Given the description of an element on the screen output the (x, y) to click on. 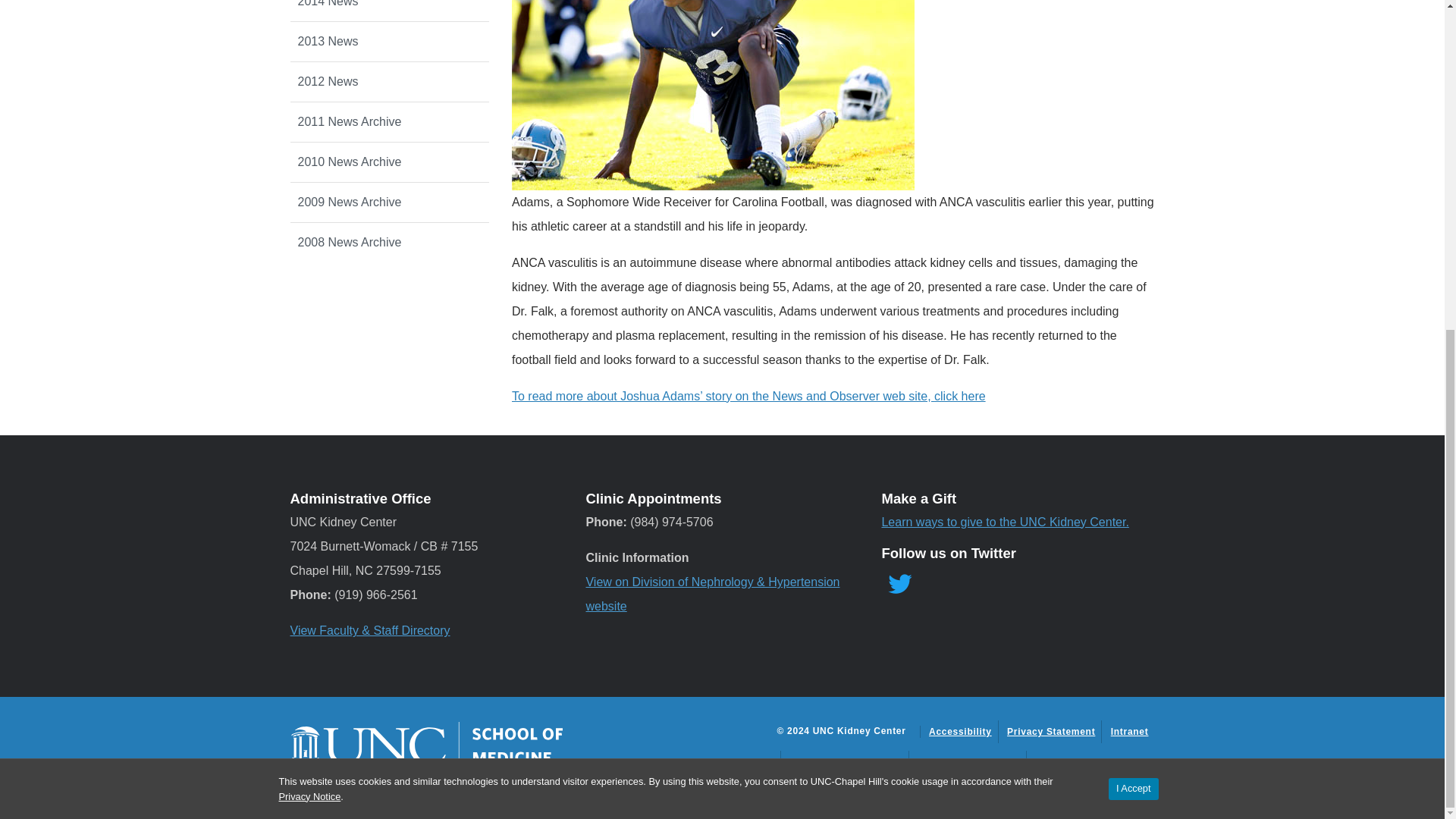
click here (959, 395)
I Accept (1133, 241)
Privacy Notice (309, 249)
UNC School of Medicine (425, 745)
